Given the description of an element on the screen output the (x, y) to click on. 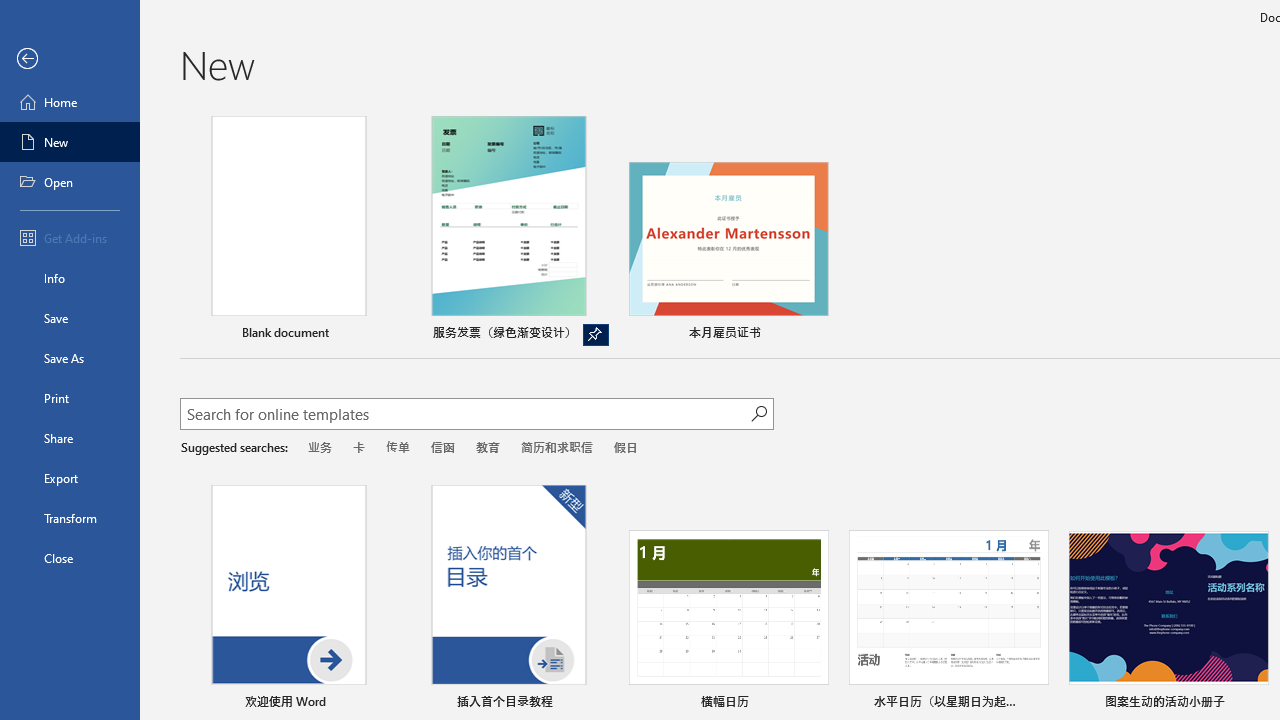
Search for online templates (465, 416)
Start searching (758, 413)
Info (69, 277)
Save As (69, 357)
New (69, 141)
Close (69, 557)
Save (69, 317)
Open (69, 182)
Get Add-ins (69, 237)
Unpin from list (595, 335)
